Given the description of an element on the screen output the (x, y) to click on. 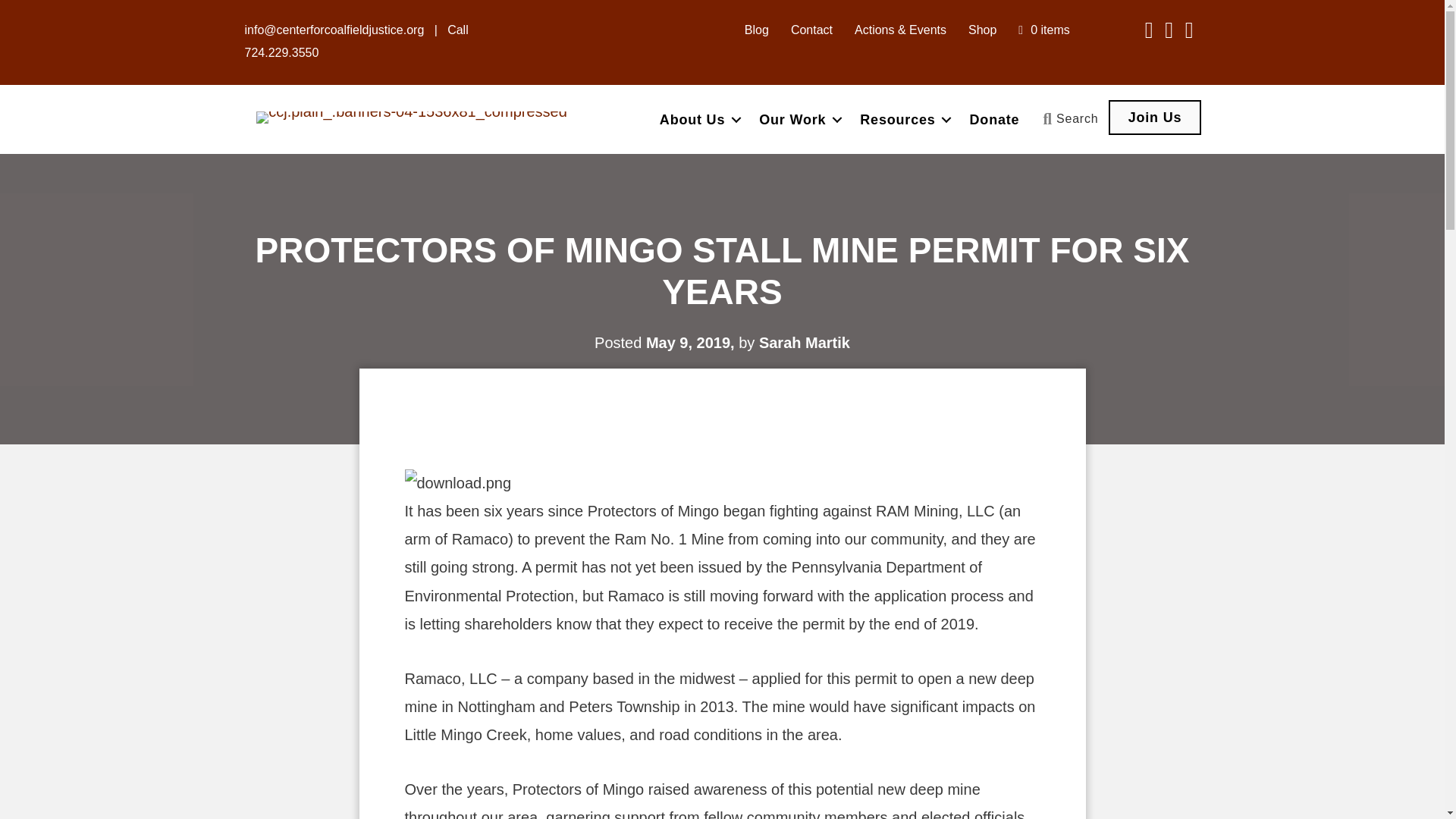
Protectors of Mingo stall Mine Permit for Six Years 2 (458, 483)
Blog (755, 29)
Join Us (1155, 117)
0 items (1043, 29)
Shop (982, 29)
About Us (696, 119)
Search (1069, 118)
Donate (994, 119)
Contact (811, 29)
Start shopping (1043, 29)
